Given the description of an element on the screen output the (x, y) to click on. 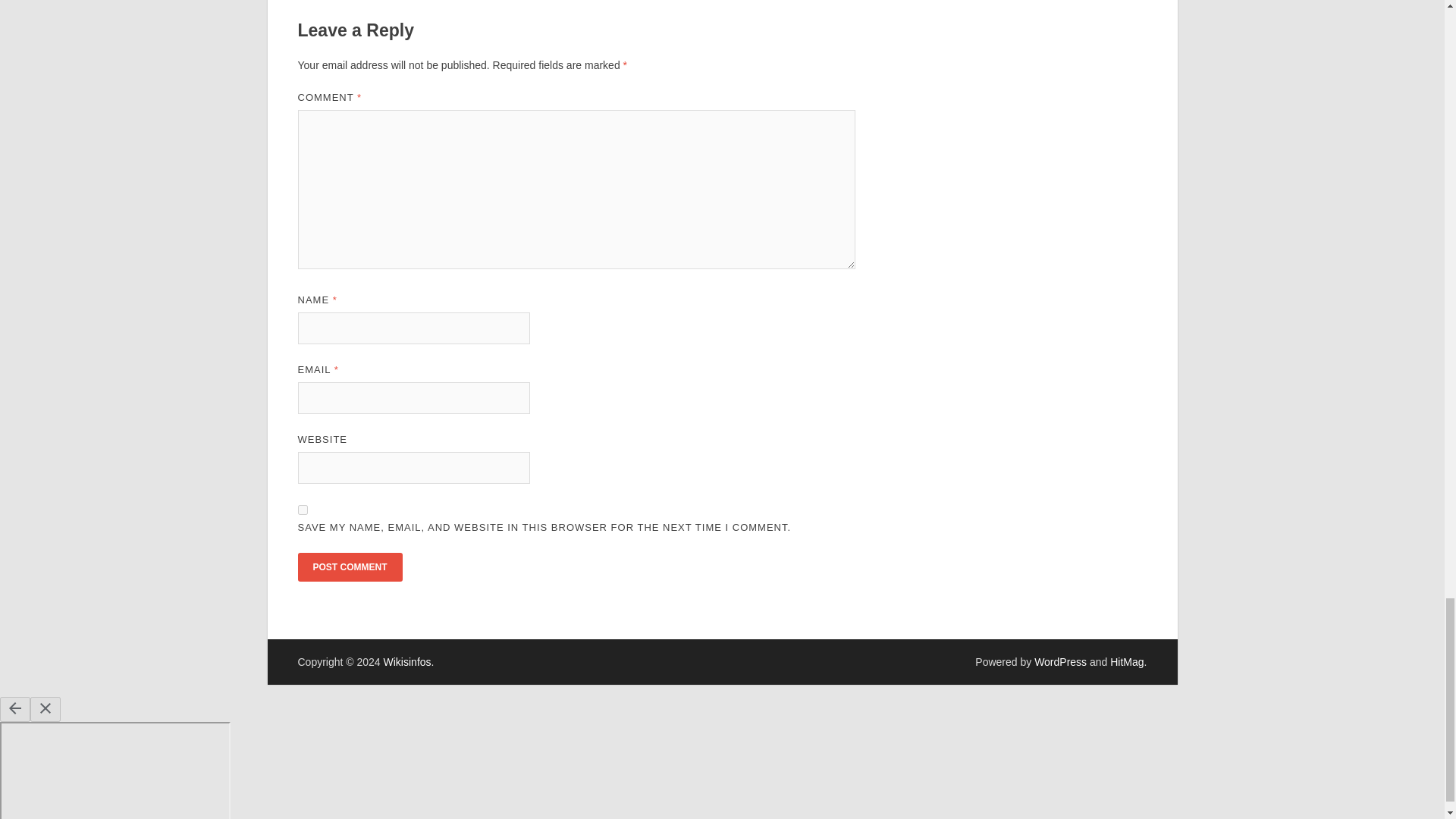
yes (302, 510)
Post Comment (349, 566)
